Given the description of an element on the screen output the (x, y) to click on. 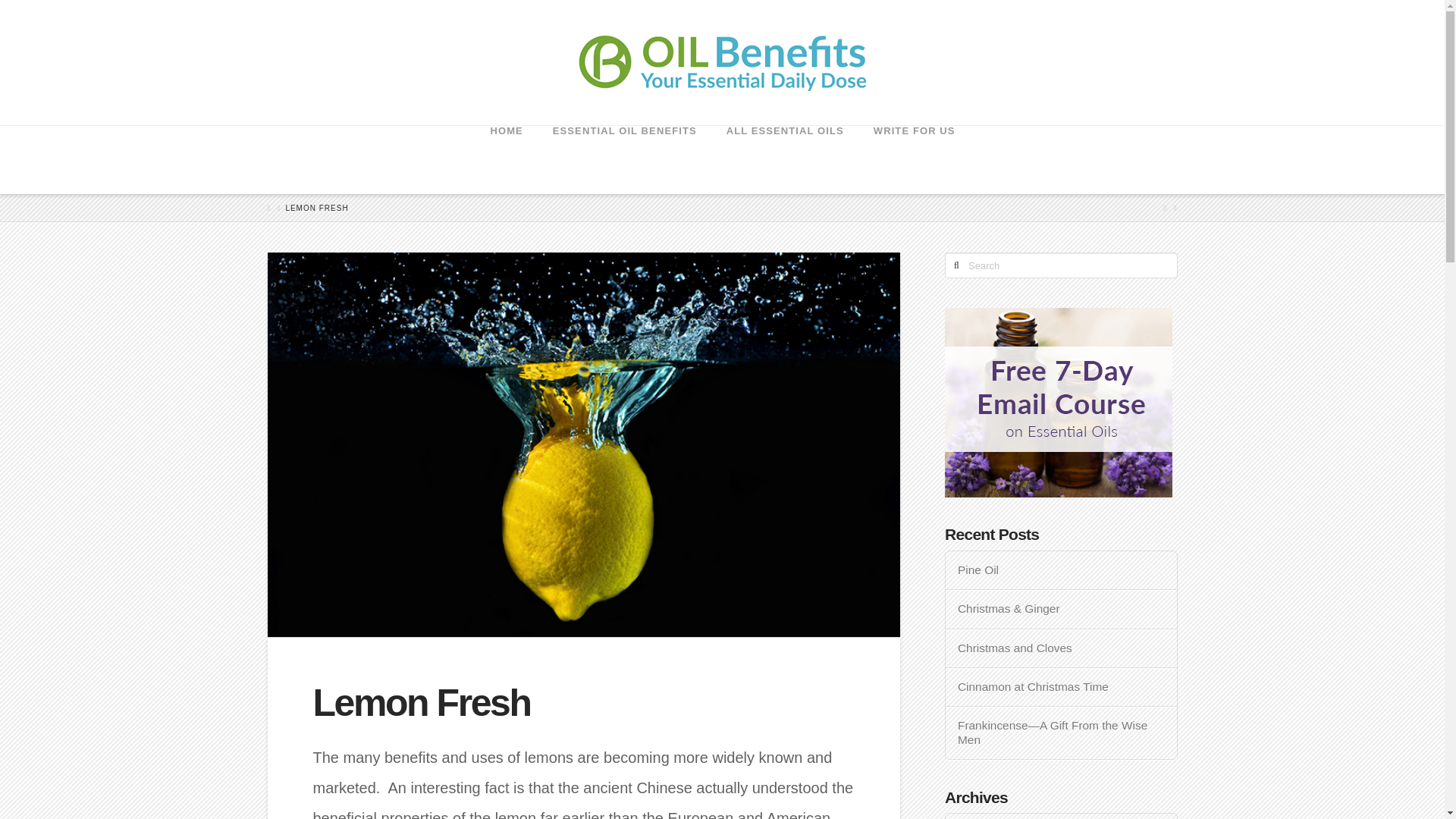
Pine Oil (1061, 570)
Cinnamon at Christmas Time (1061, 687)
Christmas and Cloves (1061, 648)
Learn about the many benefits of Pure Essential Oils (722, 62)
ALL ESSENTIAL OILS (785, 160)
ESSENTIAL OIL BENEFITS (624, 160)
HOME (505, 160)
WRITE FOR US (914, 160)
